Given the description of an element on the screen output the (x, y) to click on. 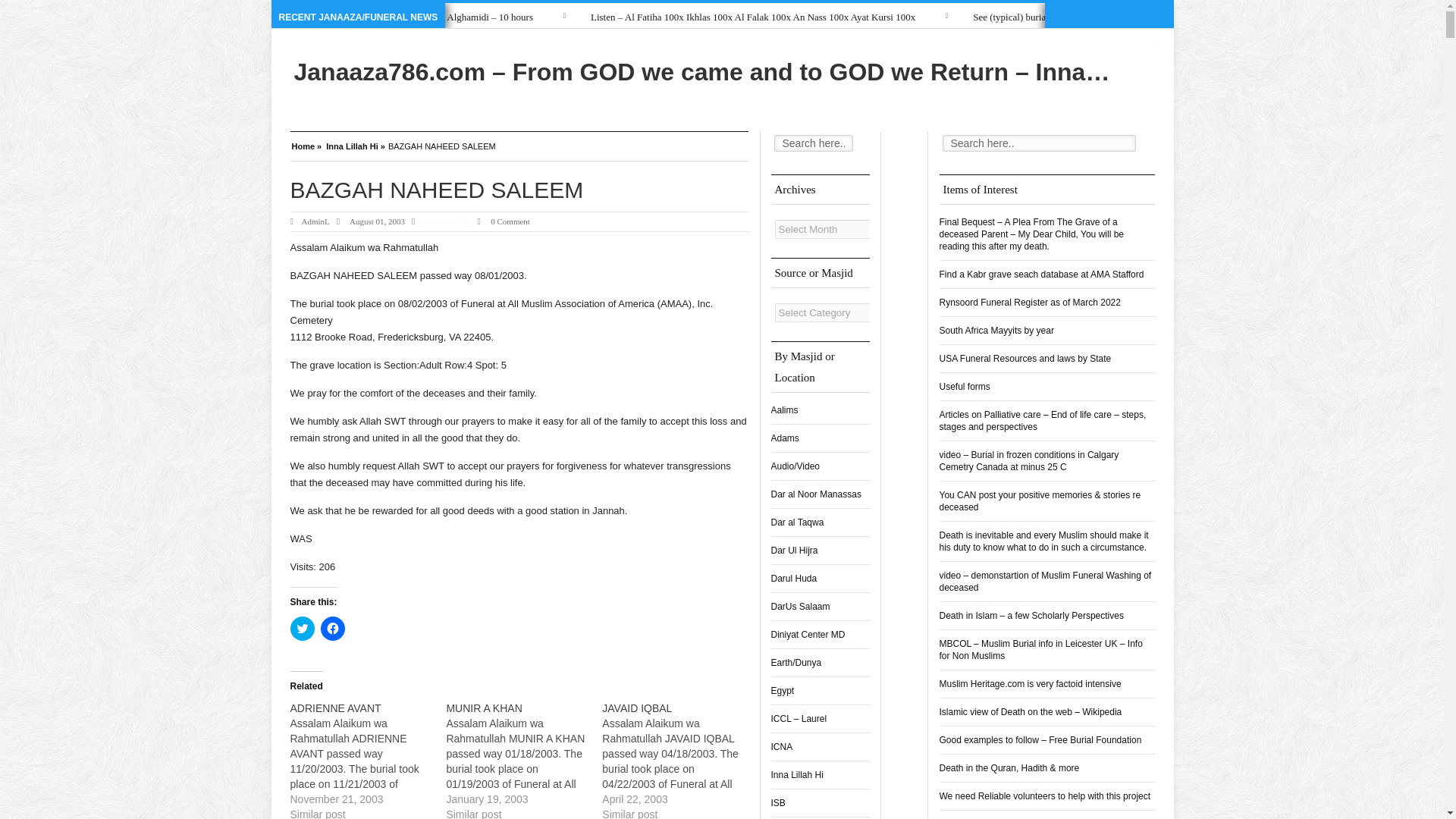
Search here.. (812, 143)
Search here.. (1038, 143)
Search here.. (1038, 143)
Search here.. (812, 143)
